Given the description of an element on the screen output the (x, y) to click on. 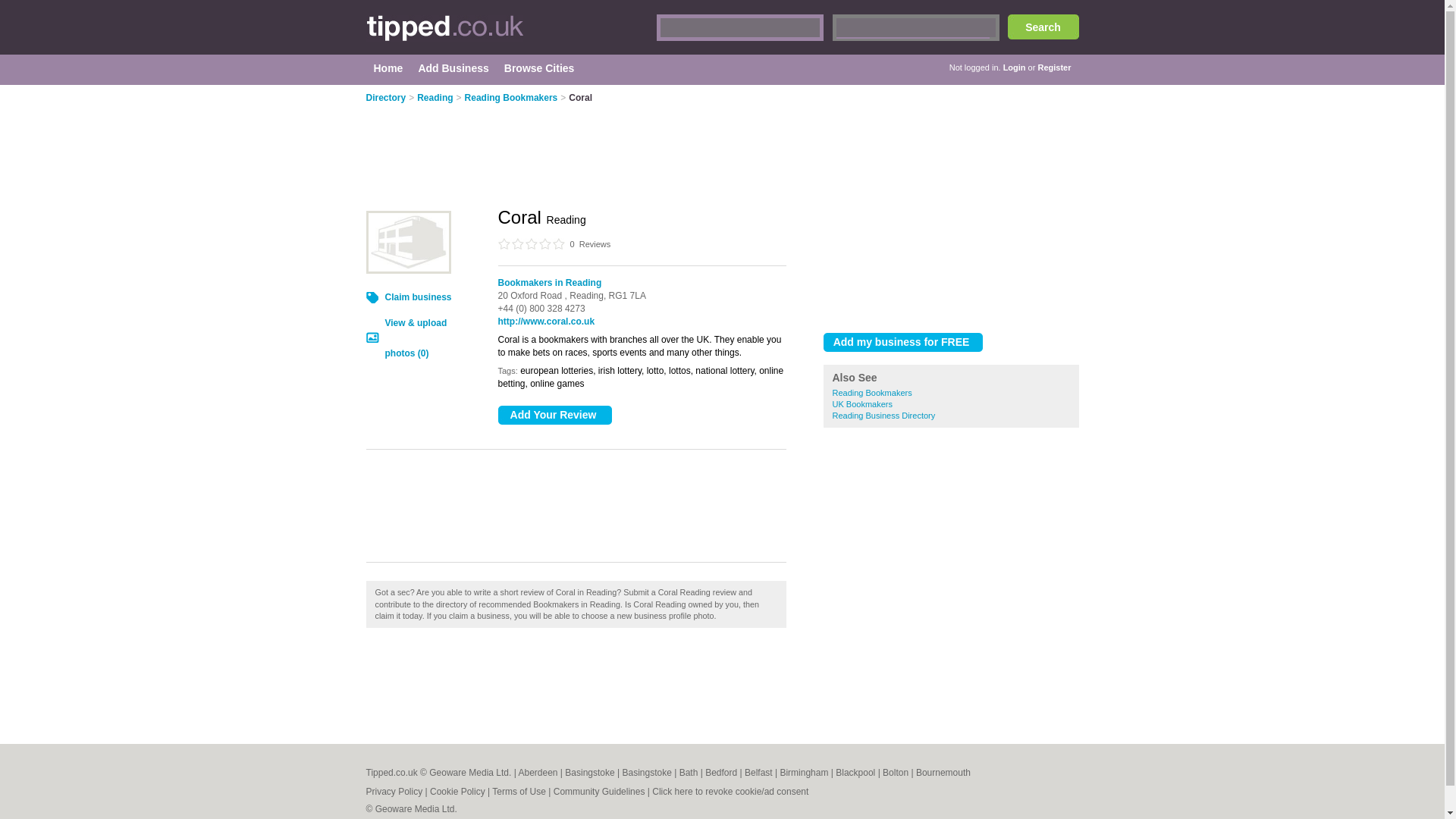
Add Your Review (554, 415)
Search (1042, 26)
Claim business (418, 296)
Home (388, 68)
Directory (385, 97)
Reading Business Directory (884, 415)
Coral Reading (407, 241)
Advertisement (593, 512)
Reading Bookmakers (872, 392)
Login (1014, 67)
Add Your Review (554, 415)
Register (1053, 67)
Add Business (452, 68)
Advertisement (951, 200)
Browse Cities (538, 68)
